Given the description of an element on the screen output the (x, y) to click on. 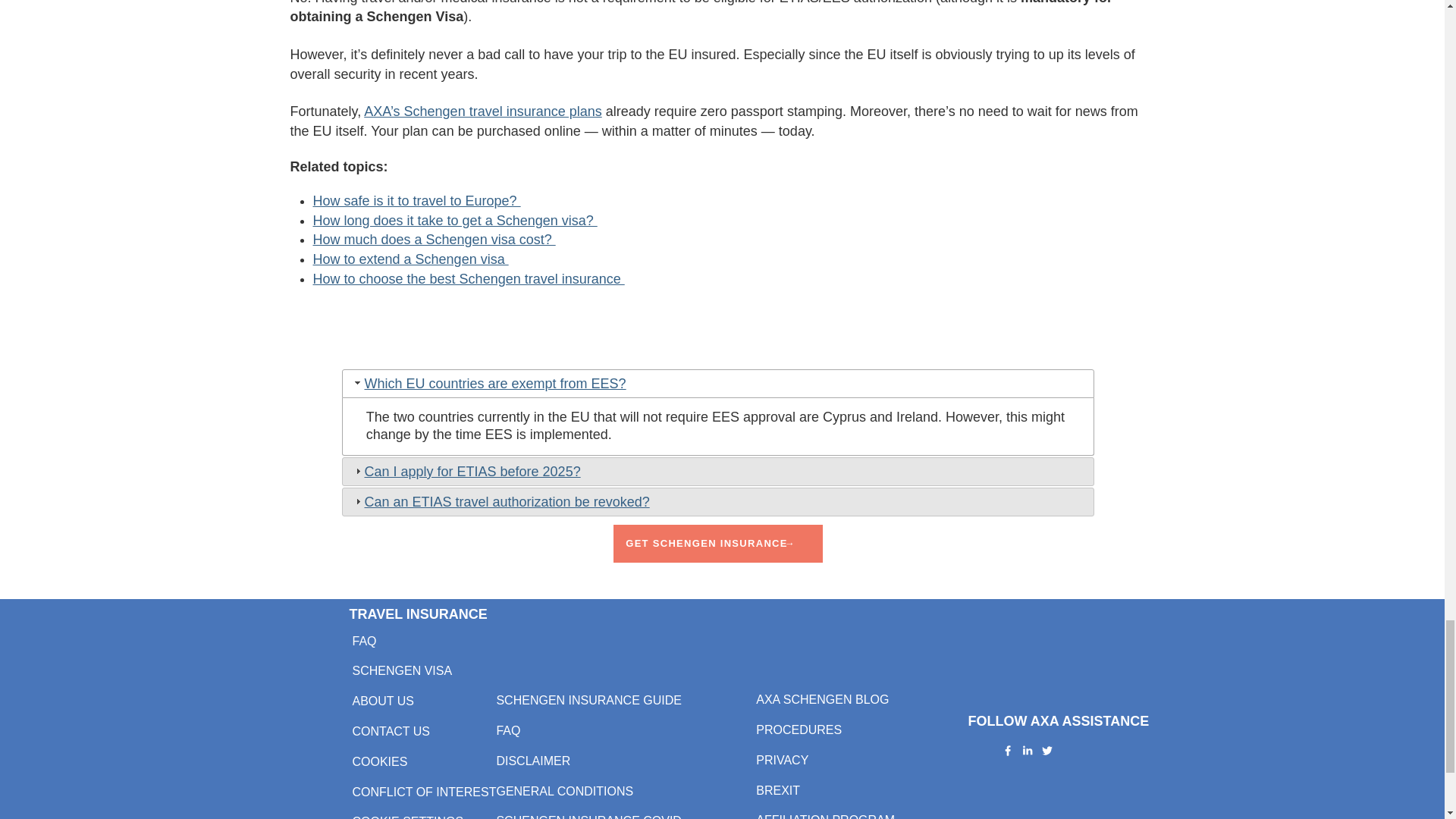
SCHENGEN VISA (401, 670)
Frequently asked questions (363, 640)
COOKIES (379, 761)
